Given the description of an element on the screen output the (x, y) to click on. 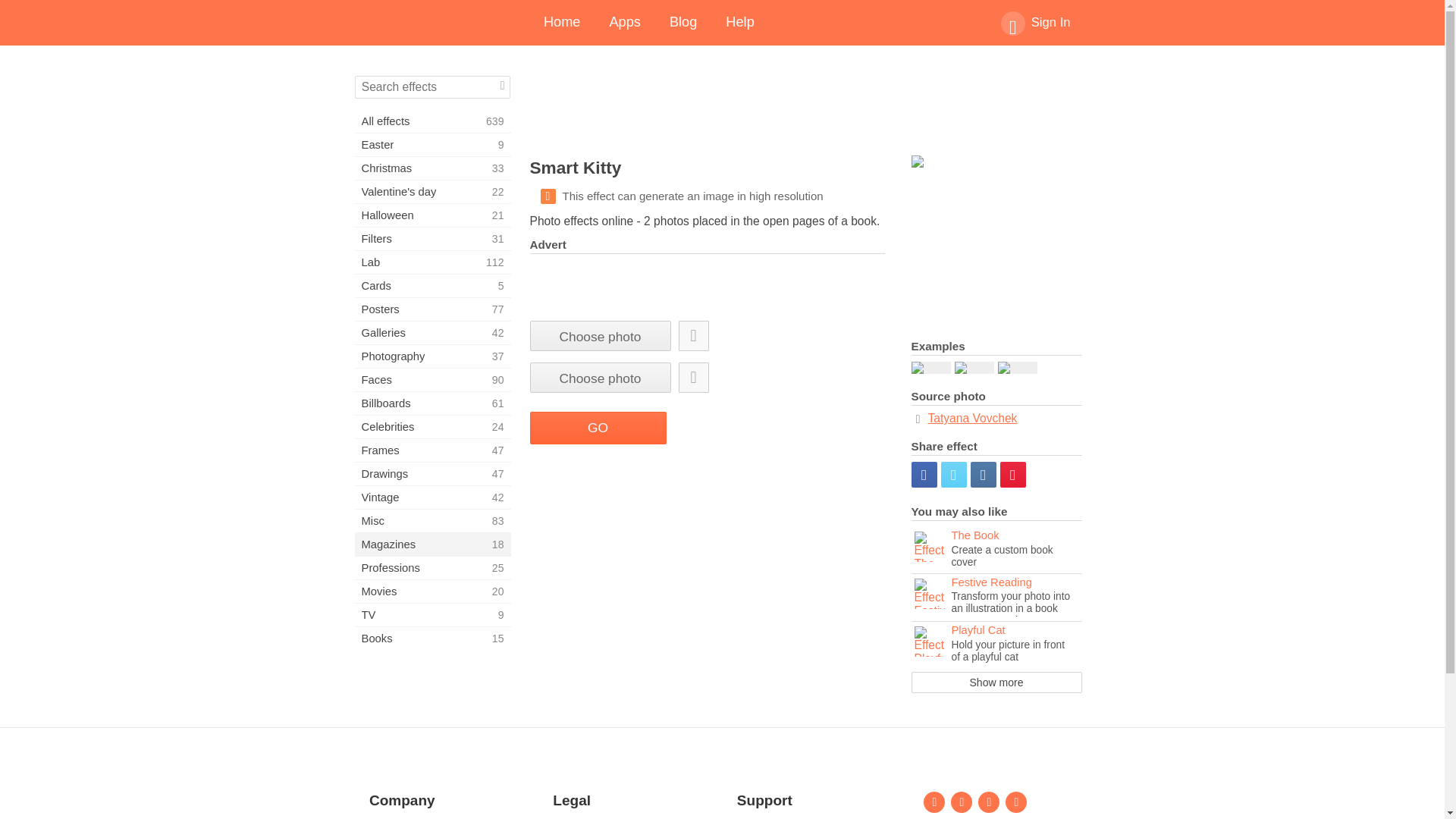
Sign In (433, 238)
Blog (433, 285)
